Given the description of an element on the screen output the (x, y) to click on. 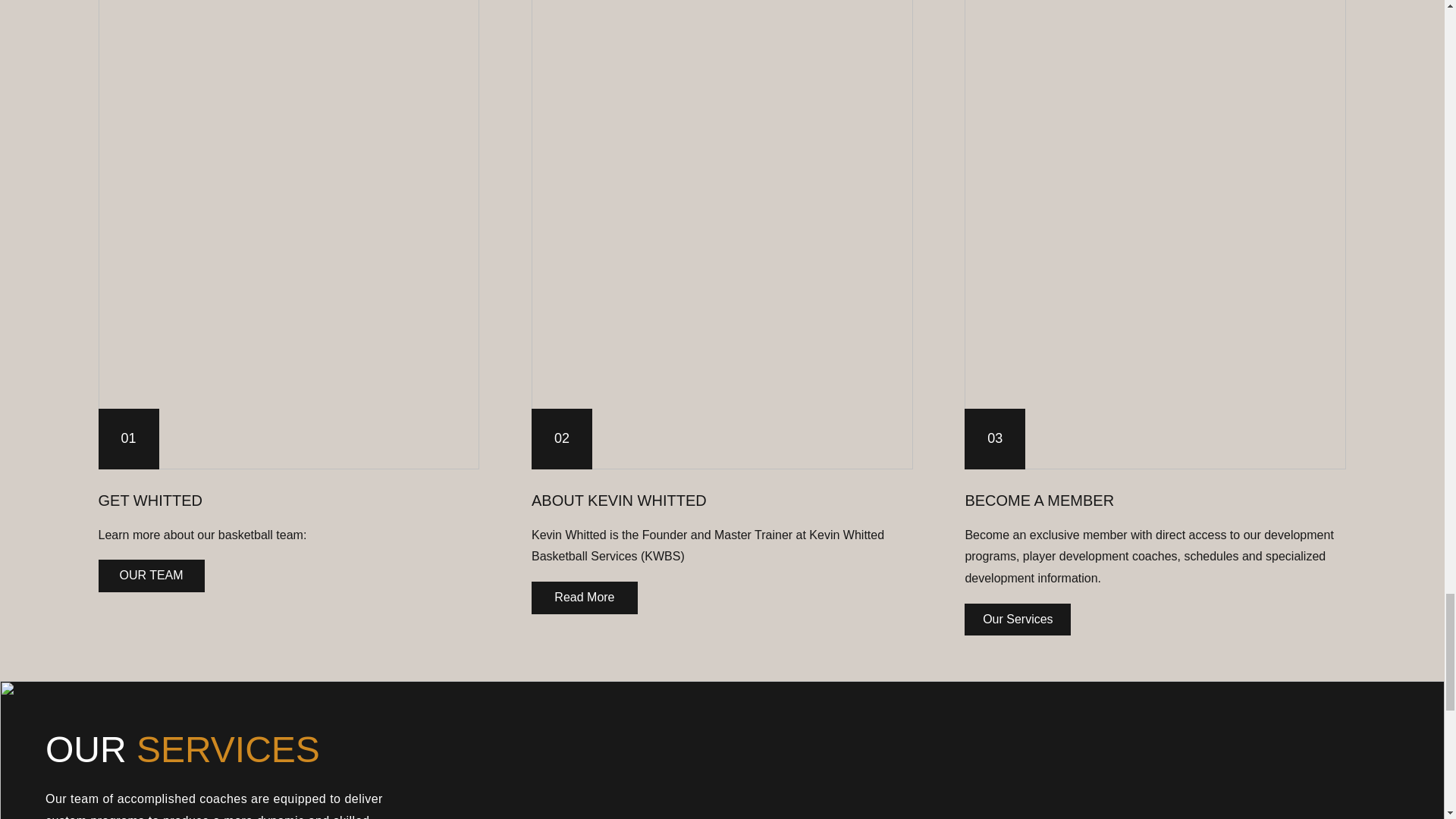
Read More (584, 597)
Our Services (1016, 619)
